Given the description of an element on the screen output the (x, y) to click on. 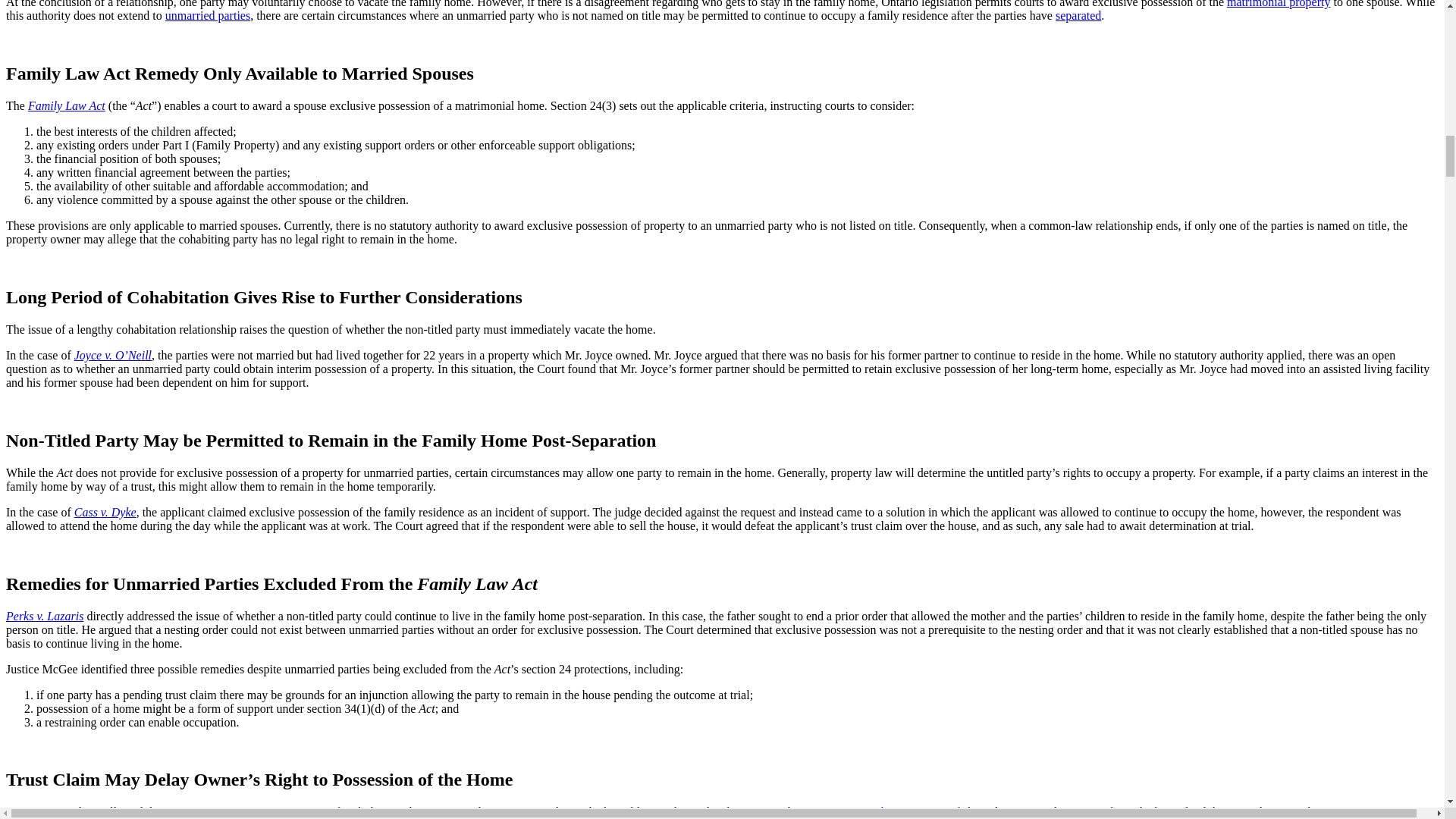
Souleiman v. Yuusuf (909, 811)
matrimonial property (1278, 4)
unmarried parties (207, 15)
separated (1077, 15)
Cass v. Dyke (105, 512)
Perks v. Lazaris (43, 615)
Family Law Act (65, 105)
